Given the description of an element on the screen output the (x, y) to click on. 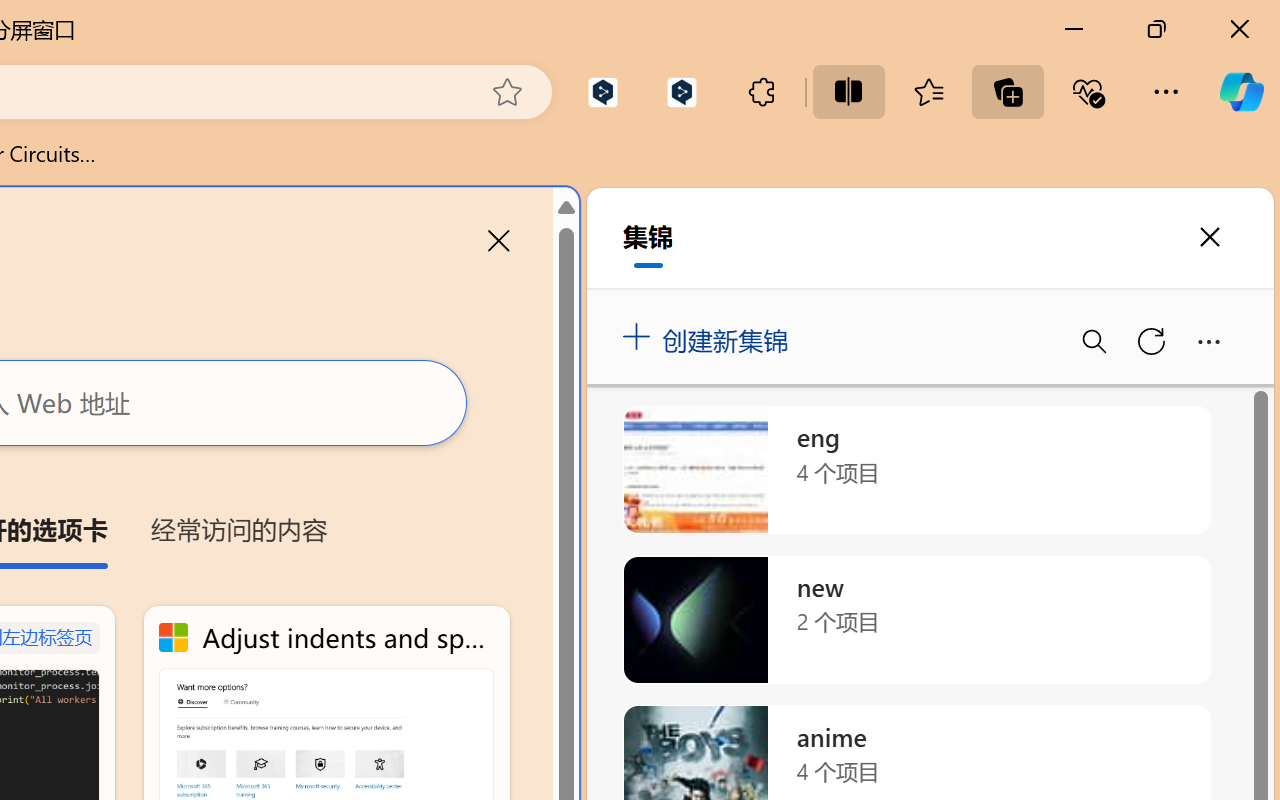
Copilot (Ctrl+Shift+.) (1241, 91)
